Given the description of an element on the screen output the (x, y) to click on. 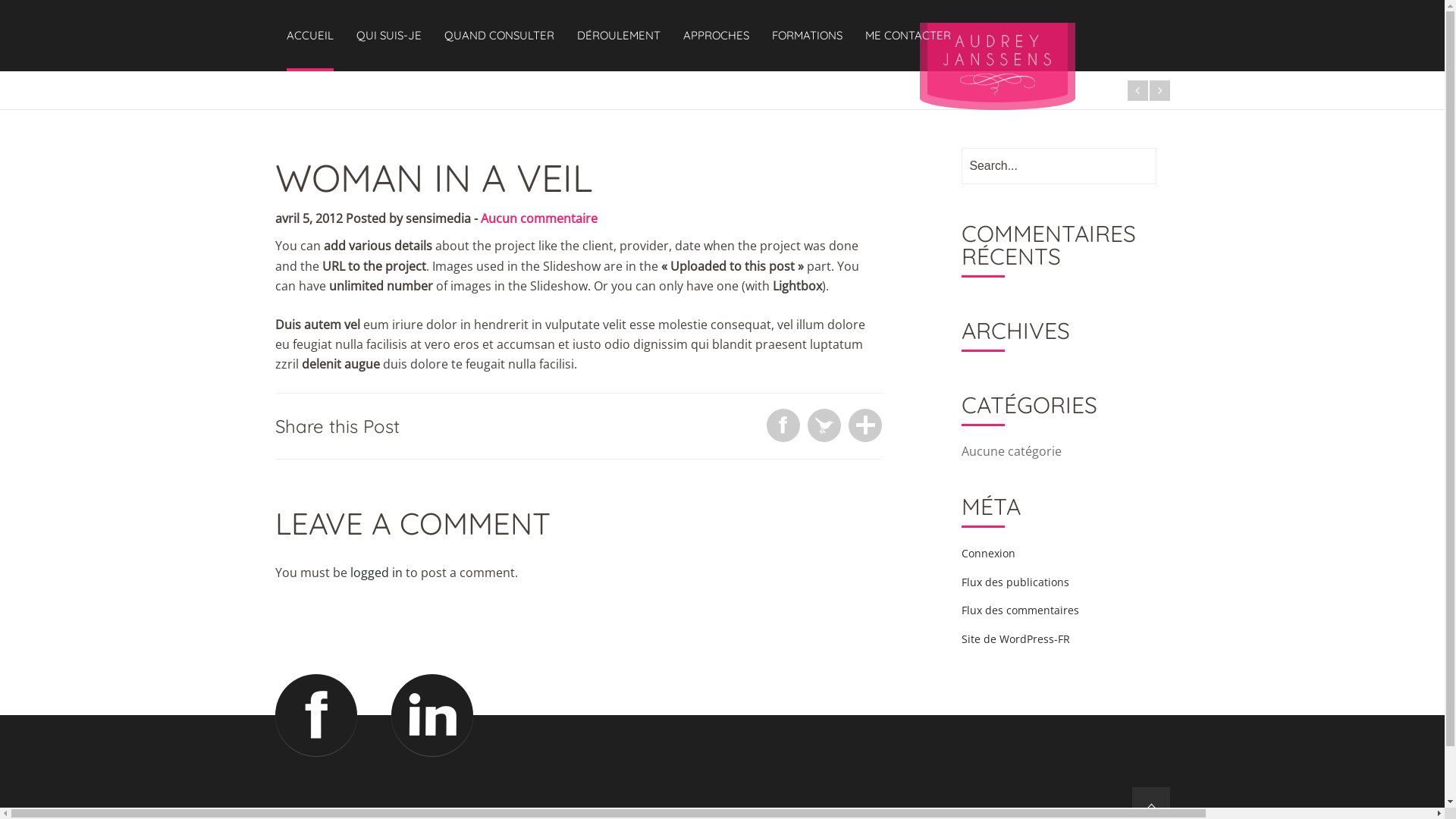
ACCUEIL Element type: text (309, 35)
QUI SUIS-JE Element type: text (388, 34)
Site de WordPress-FR Element type: text (1015, 638)
APPROCHES Element type: text (715, 34)
Rechercher Element type: text (2, 4)
Facebook Element type: hover (315, 715)
logged in Element type: text (376, 572)
QUAND CONSULTER Element type: text (499, 34)
Aucun commentaire Element type: text (538, 218)
Flux des commentaires Element type: text (1020, 609)
Linkedin Element type: hover (432, 715)
Flux des publications Element type: text (1015, 581)
ME CONTACTER Element type: text (907, 34)
FORMATIONS Element type: text (806, 34)
Connexion Element type: text (988, 553)
